Given the description of an element on the screen output the (x, y) to click on. 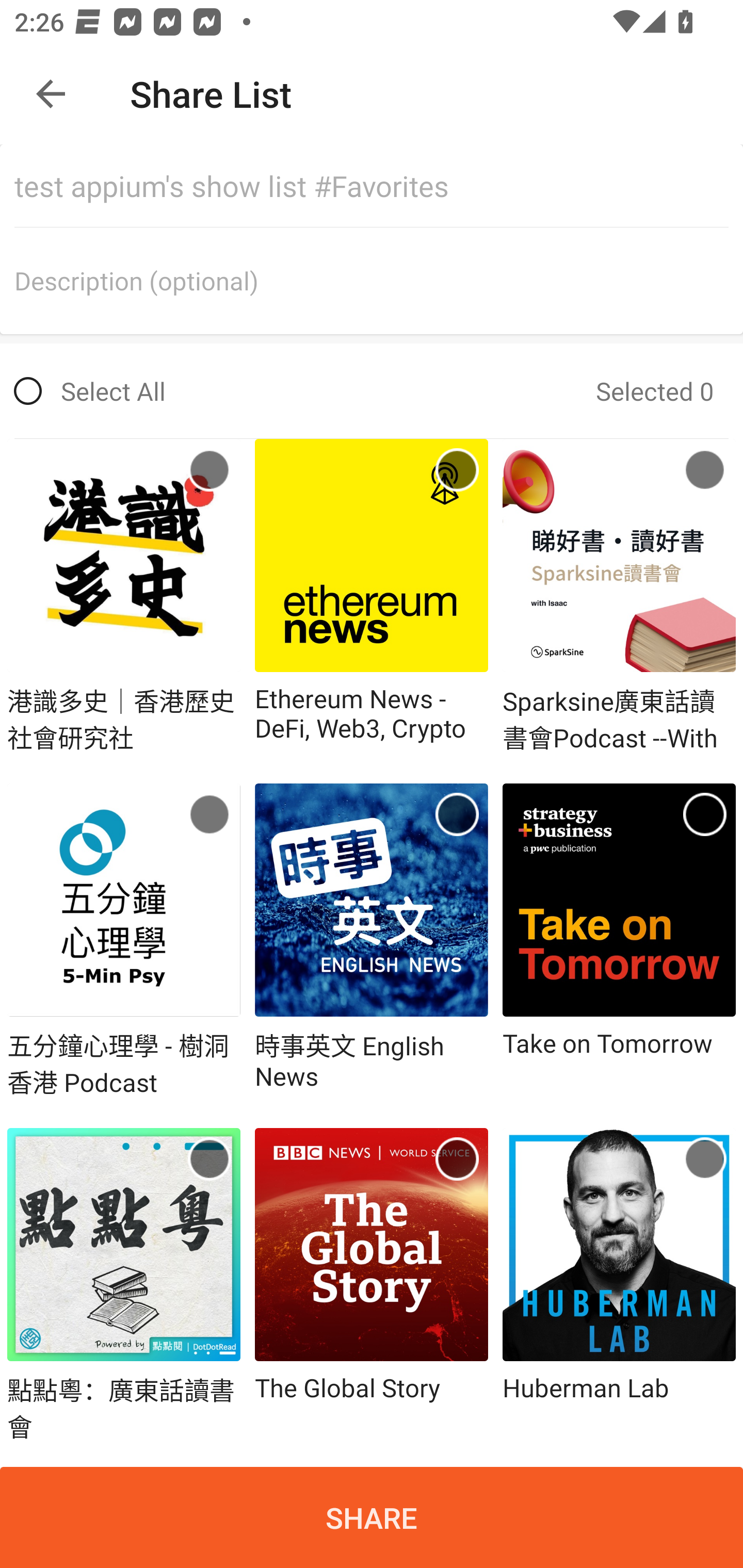
Navigate up (50, 93)
test appium's show list #Favorites (378, 185)
Description (optional) (378, 280)
Select All (89, 391)
港識多史｜香港歷史社會研究社 (123, 596)
Ethereum News - DeFi, Web3, Crypto (371, 596)
Sparksine廣東話讀書會Podcast --With Isaac (618, 596)
五分鐘心理學 - 樹洞香港 Podcast (123, 941)
時事英文 English News (371, 941)
Take on Tomorrow (618, 941)
點點粵：廣東話讀書會 (123, 1285)
The Global Story (371, 1285)
Huberman Lab (618, 1285)
SHARE (371, 1517)
